Given the description of an element on the screen output the (x, y) to click on. 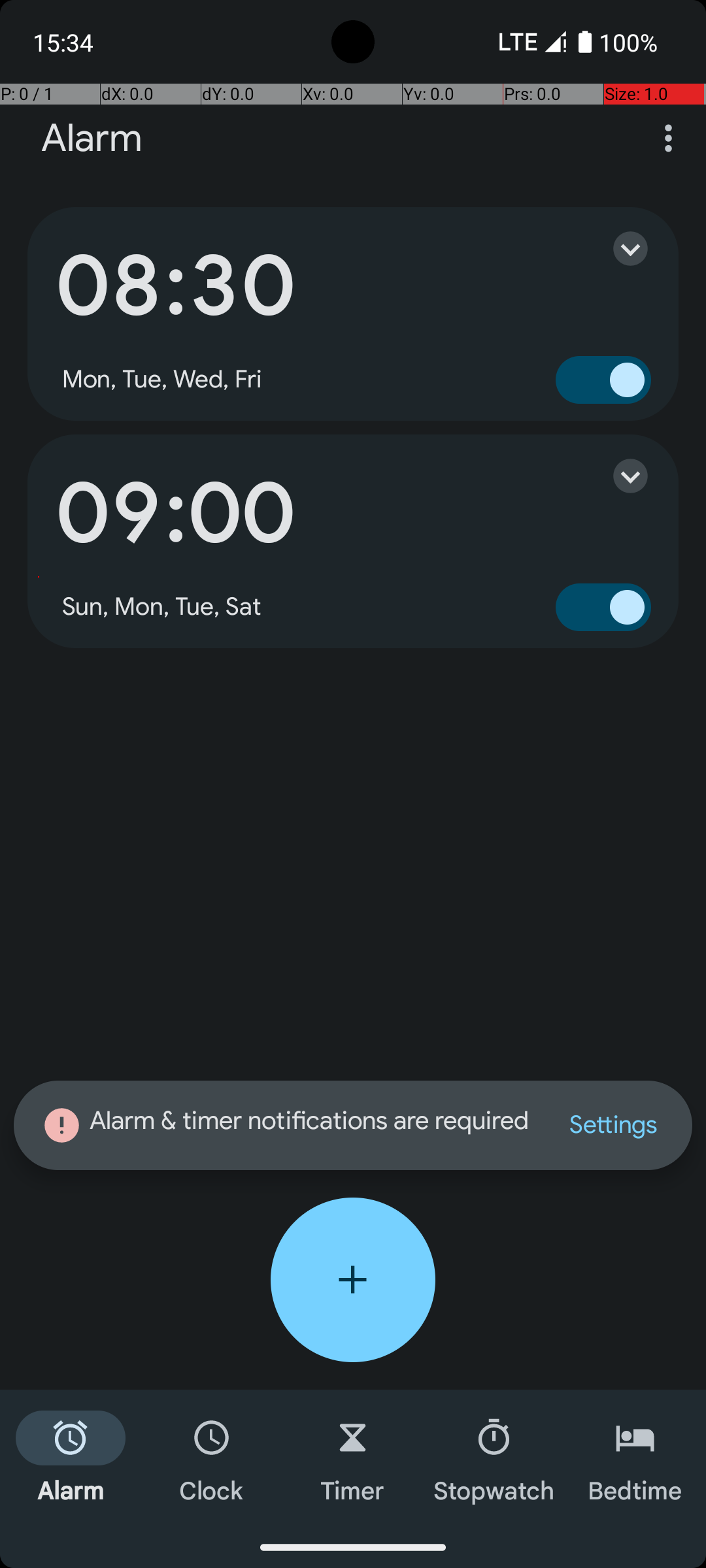
Mon, Tue, Wed, Fri Element type: android.widget.TextView (161, 379)
Sun, Mon, Tue, Sat Element type: android.widget.TextView (161, 606)
Alarm & timer notifications are required Element type: android.widget.TextView (287, 1125)
